Given the description of an element on the screen output the (x, y) to click on. 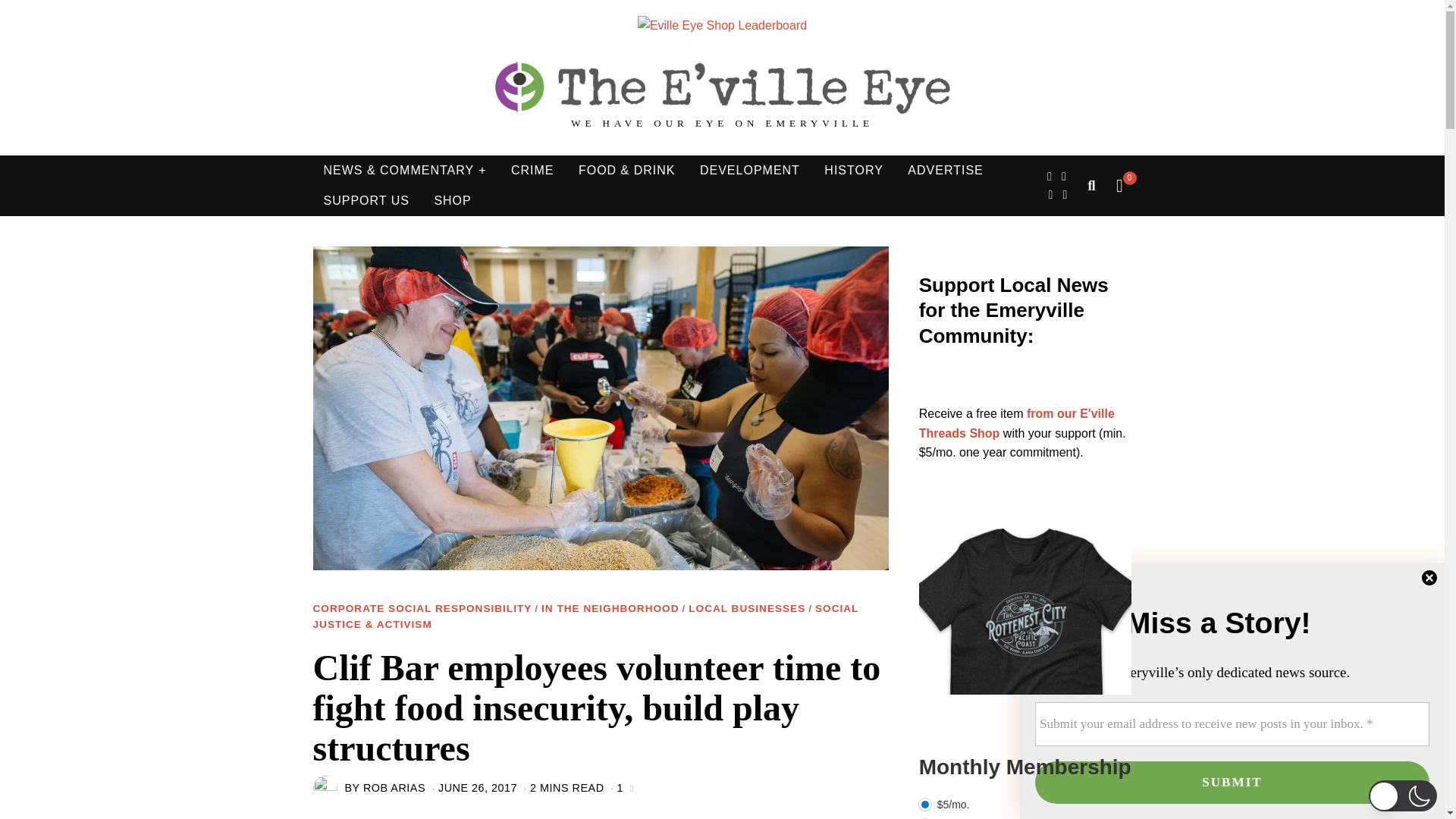
1 (620, 787)
IN THE NEIGHBORHOOD (609, 608)
DEVELOPMENT (749, 170)
CORPORATE SOCIAL RESPONSIBILITY (422, 608)
ADVERTISE (944, 170)
ROB ARIAS (393, 787)
0 (1118, 185)
CRIME (532, 170)
make-a-recurring-monthly-payment-1534632379 (924, 804)
